Given the description of an element on the screen output the (x, y) to click on. 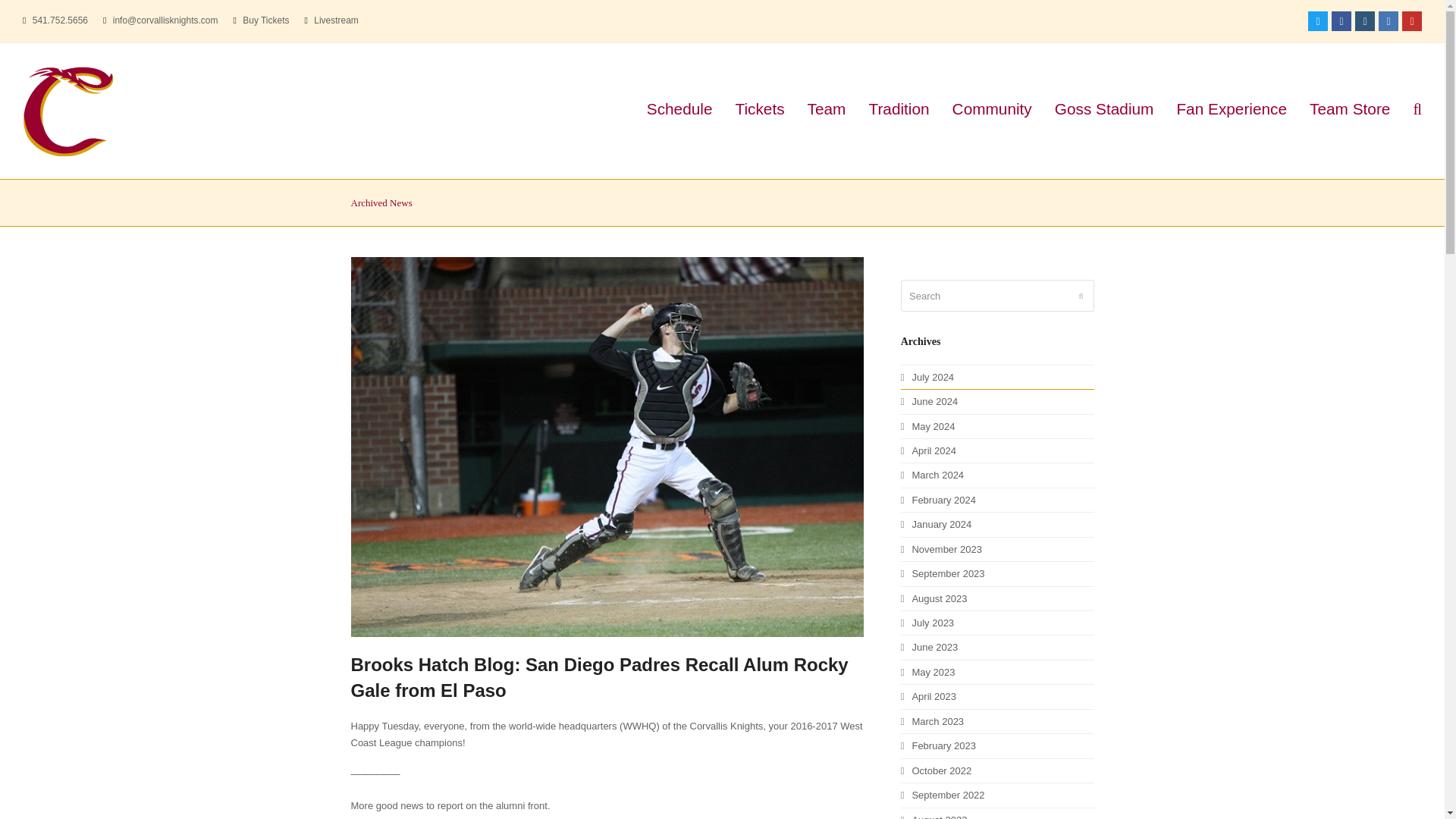
Livestream (336, 20)
Instagram (1364, 21)
Buy Tickets (265, 20)
Tickets (758, 111)
Community (991, 111)
LinkedIn (1387, 21)
Twitter (1317, 21)
Schedule (678, 111)
Facebook (1341, 21)
Twitter (1317, 21)
Instagram (1364, 21)
Tradition (898, 111)
Team (826, 111)
Youtube (1412, 21)
Facebook (1341, 21)
